Given the description of an element on the screen output the (x, y) to click on. 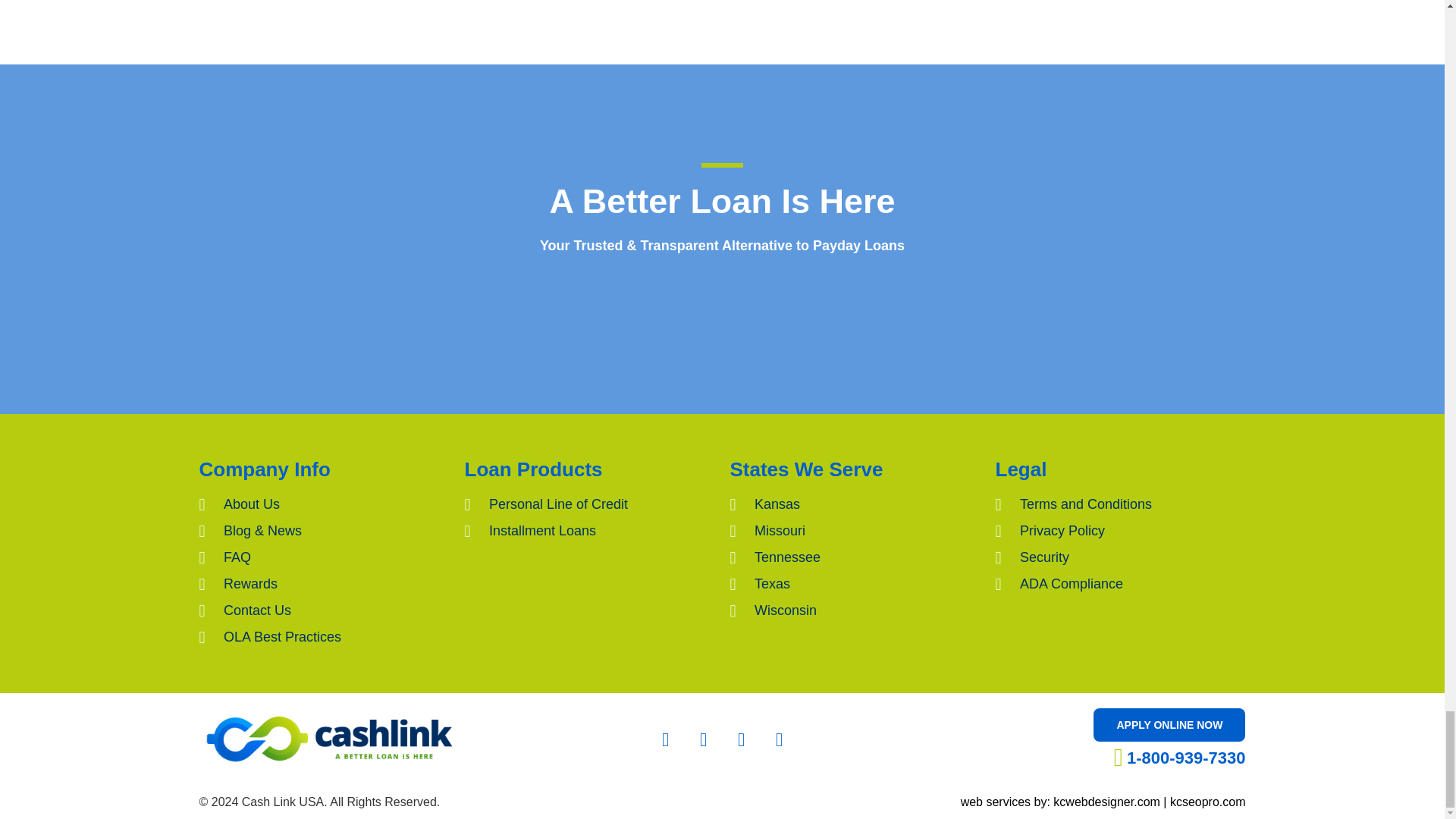
OLA Best Practices (323, 637)
Rewards (323, 584)
Installment Loans (589, 530)
Contact Us (323, 610)
FAQ (323, 557)
Personal Line of Credit (589, 504)
About Us (323, 504)
